Given the description of an element on the screen output the (x, y) to click on. 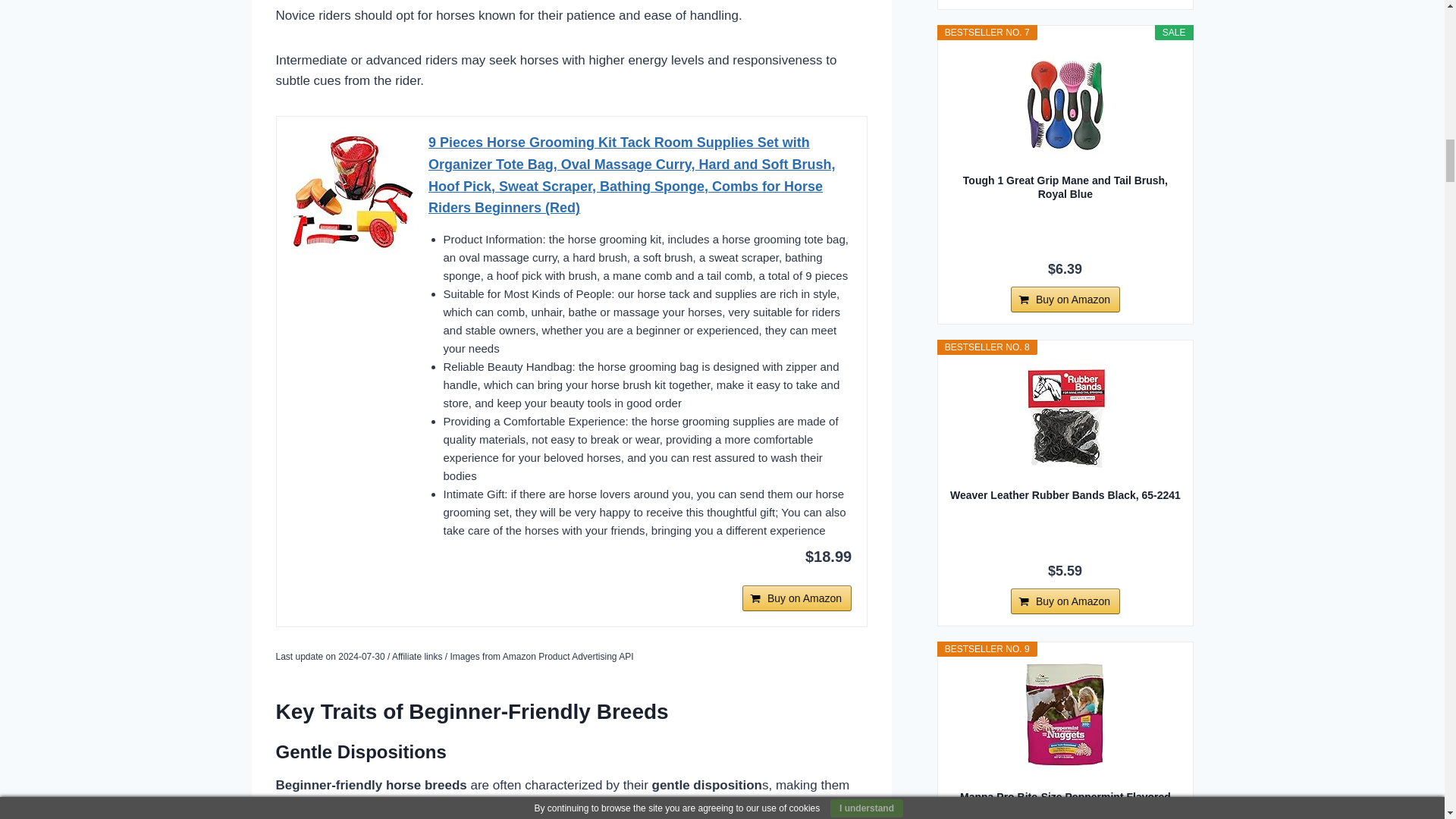
Buy on Amazon (796, 597)
Amazon Prime (639, 585)
Buy on Amazon (796, 597)
